Given the description of an element on the screen output the (x, y) to click on. 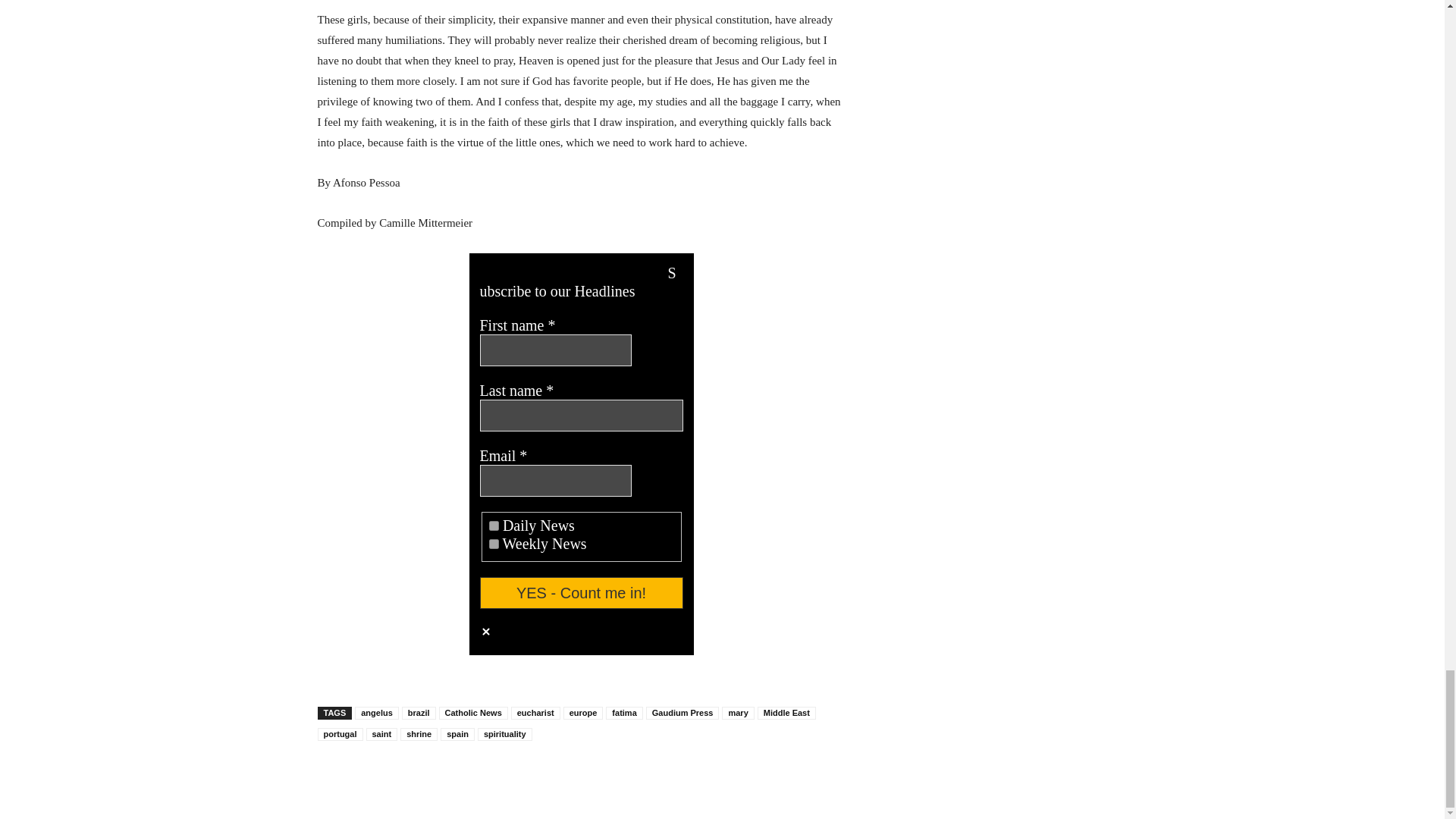
5 (494, 543)
YES - Count me in! (580, 593)
3 (494, 525)
